Given the description of an element on the screen output the (x, y) to click on. 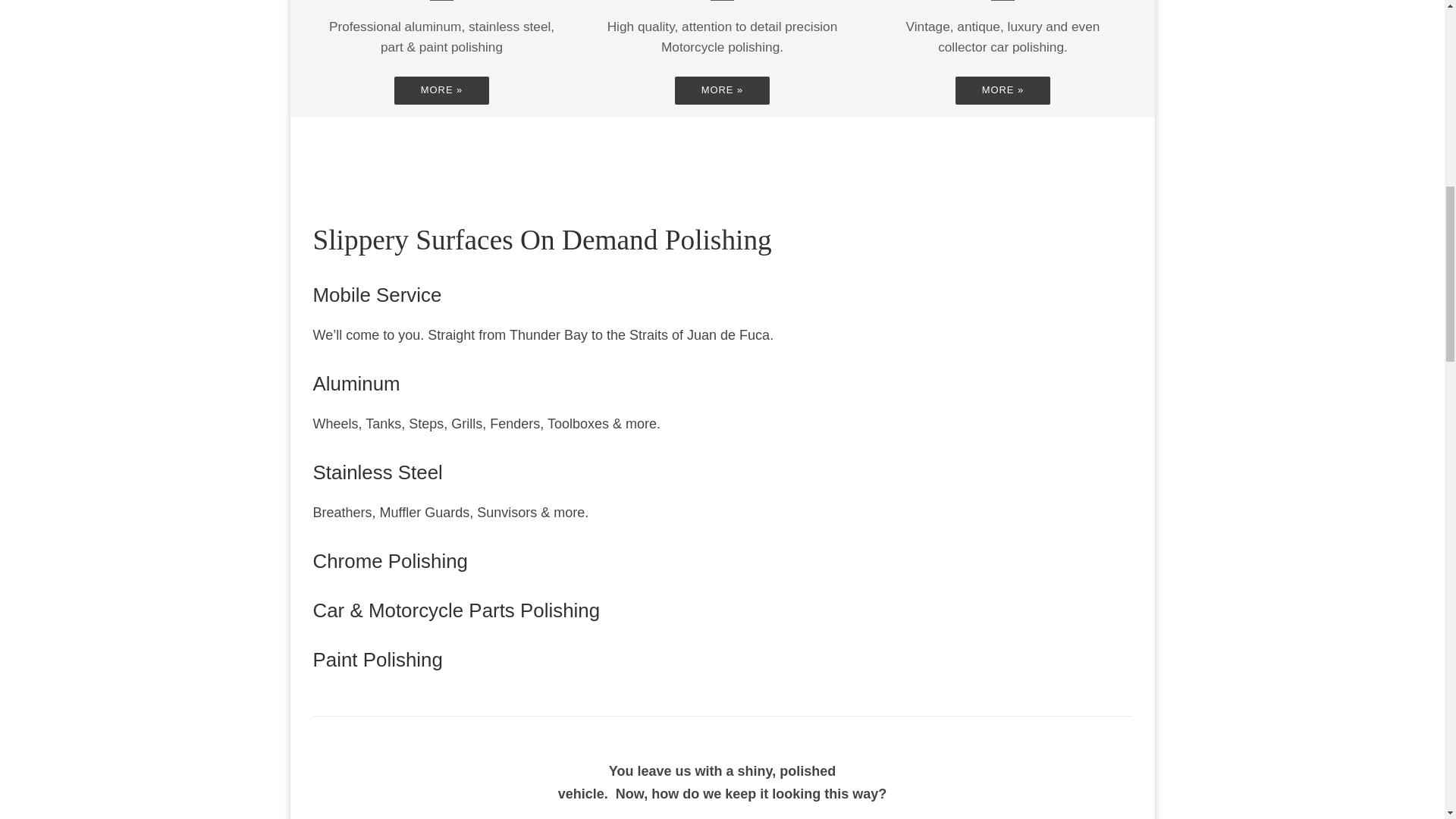
Car Polishing (1002, 90)
Motorcycle Polishing (721, 90)
Semi-Truck Polishing (440, 90)
